Given the description of an element on the screen output the (x, y) to click on. 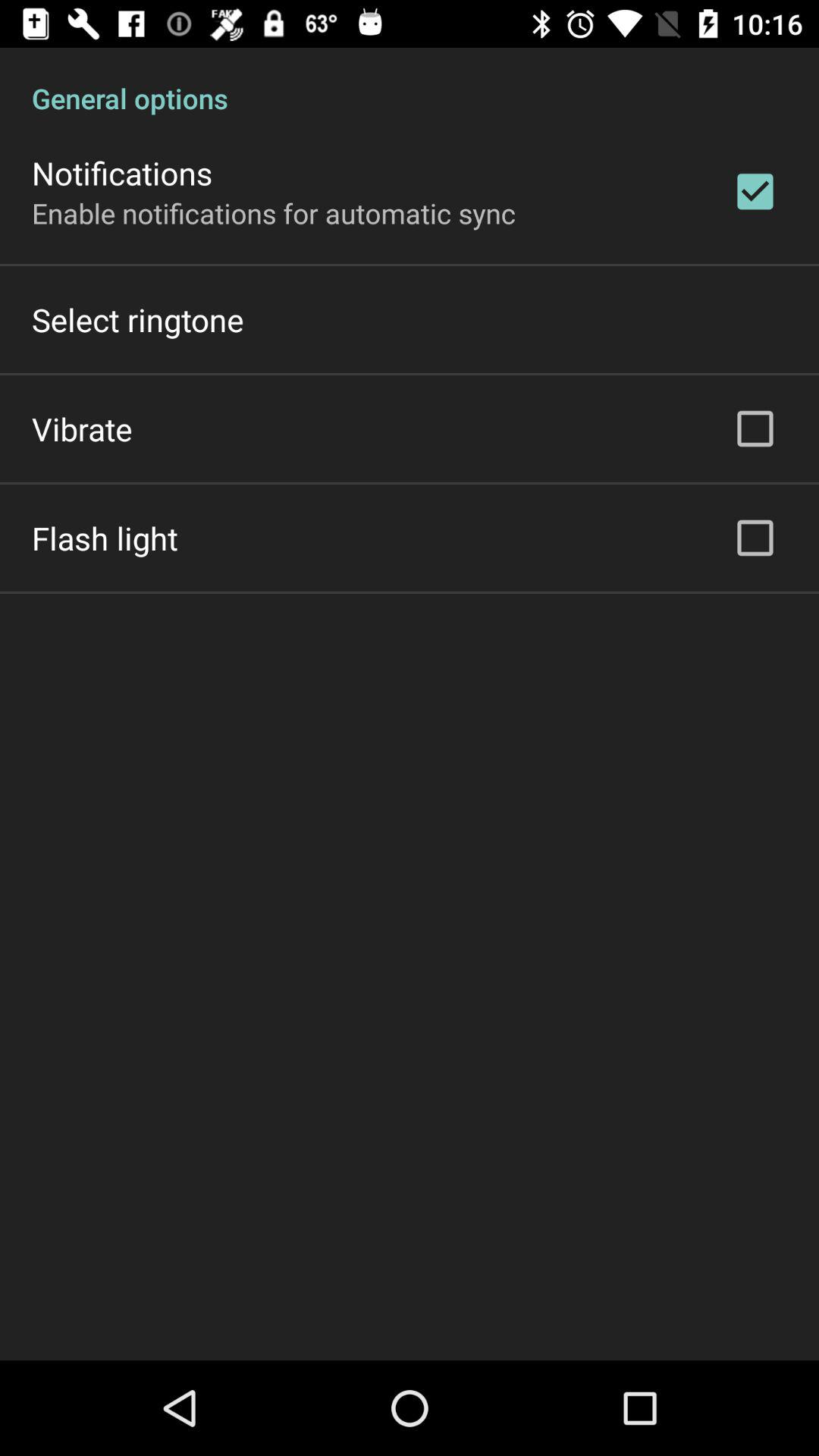
turn off general options (409, 82)
